Given the description of an element on the screen output the (x, y) to click on. 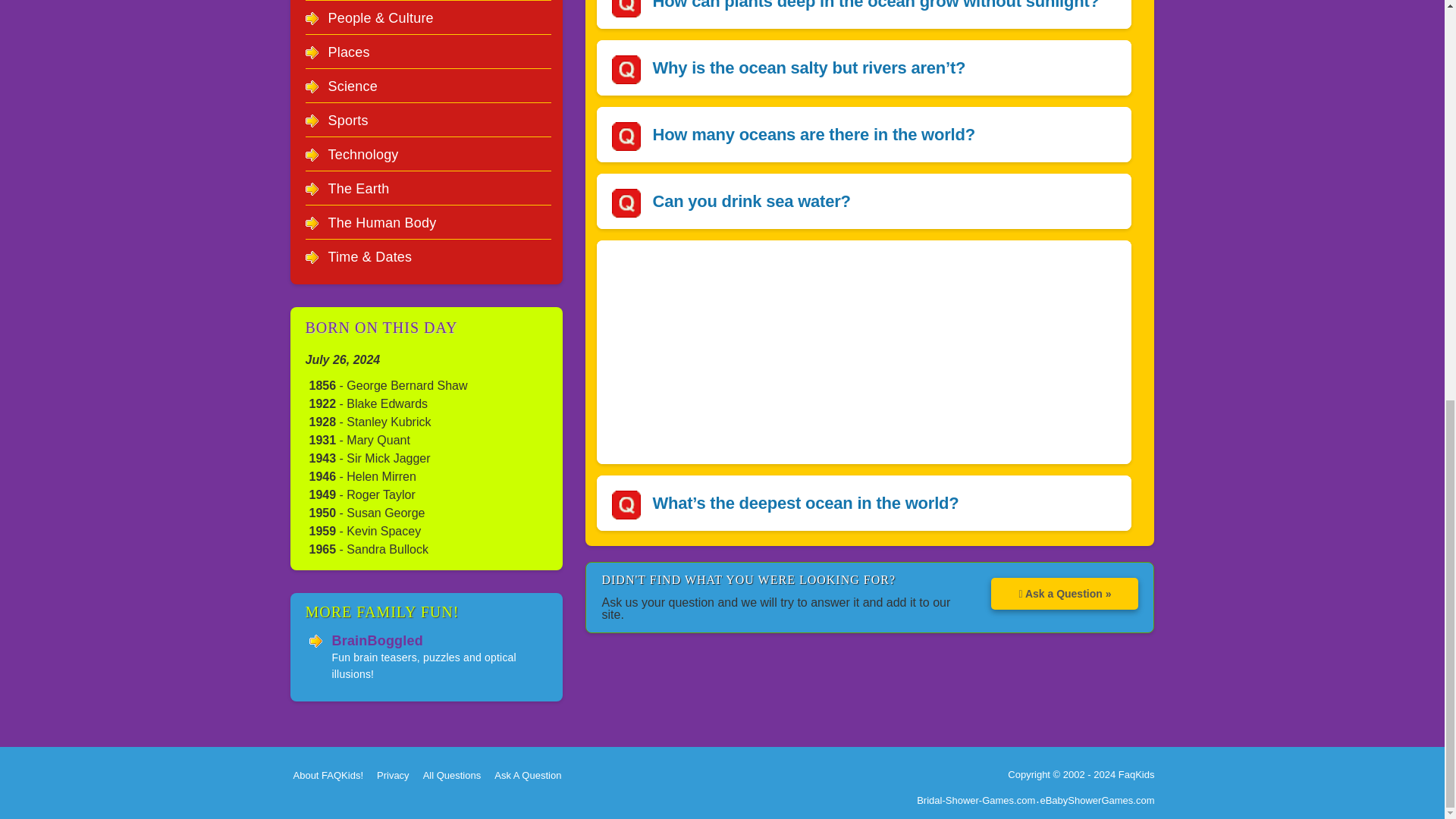
Places (348, 52)
Can you drink sea water? (751, 200)
The Human Body (381, 222)
About FAQKids! (331, 775)
Privacy (396, 775)
Sports (347, 120)
Technology (362, 154)
How many oceans are there in the world? (813, 134)
All Questions (456, 775)
How many oceans are there in the world? (813, 134)
How can plants deep in the ocean grow without sunlight? (875, 5)
BrainBoggled (377, 640)
The Earth (357, 188)
Science (352, 86)
brain teasers (377, 640)
